Given the description of an element on the screen output the (x, y) to click on. 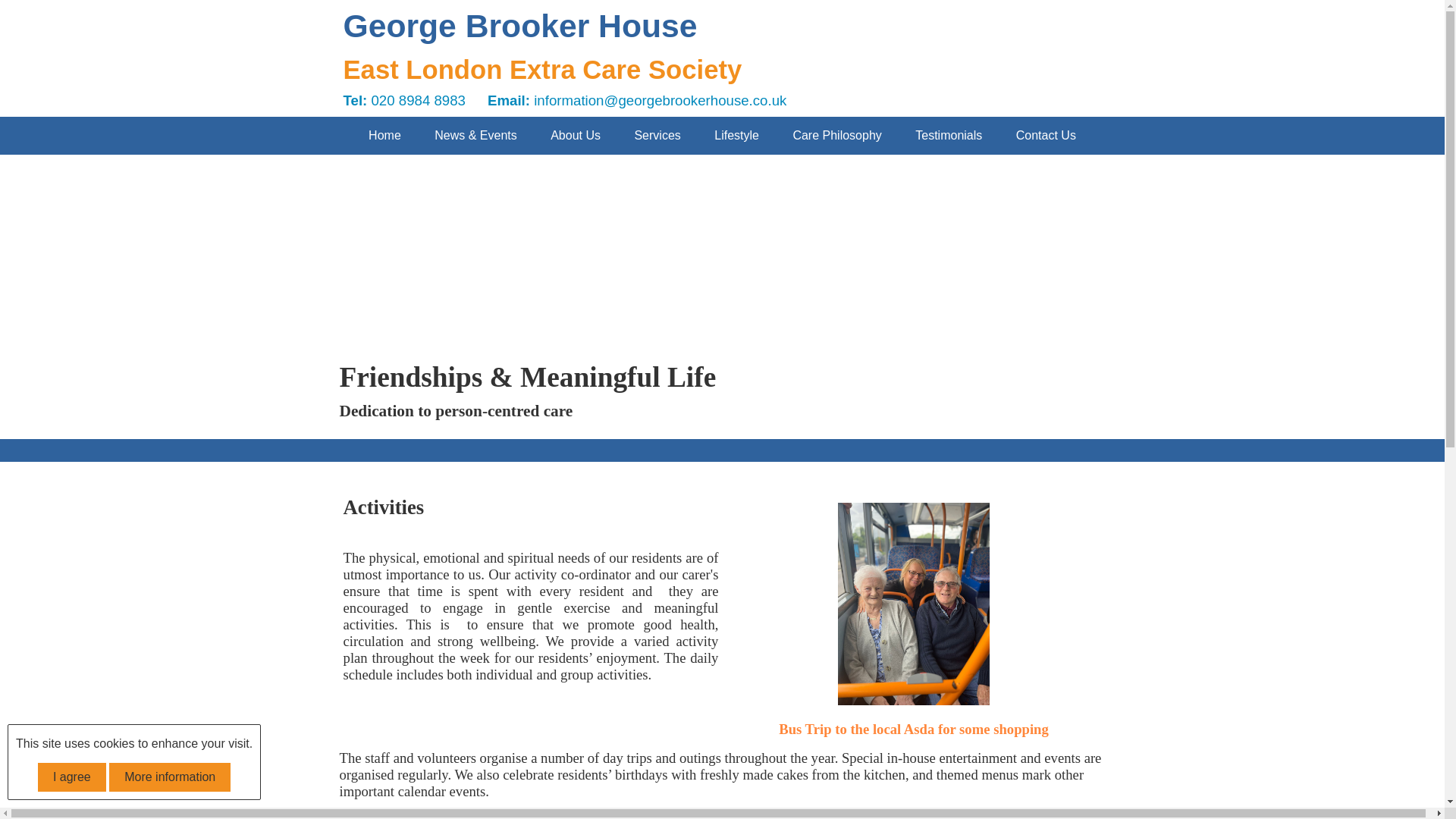
Care Philosophy (836, 135)
About Us (575, 135)
I agree (71, 776)
Testimonials (948, 135)
Services (656, 135)
Contact Us (1045, 135)
More information (169, 776)
Home (384, 135)
Lifestyle (736, 135)
